Given the description of an element on the screen output the (x, y) to click on. 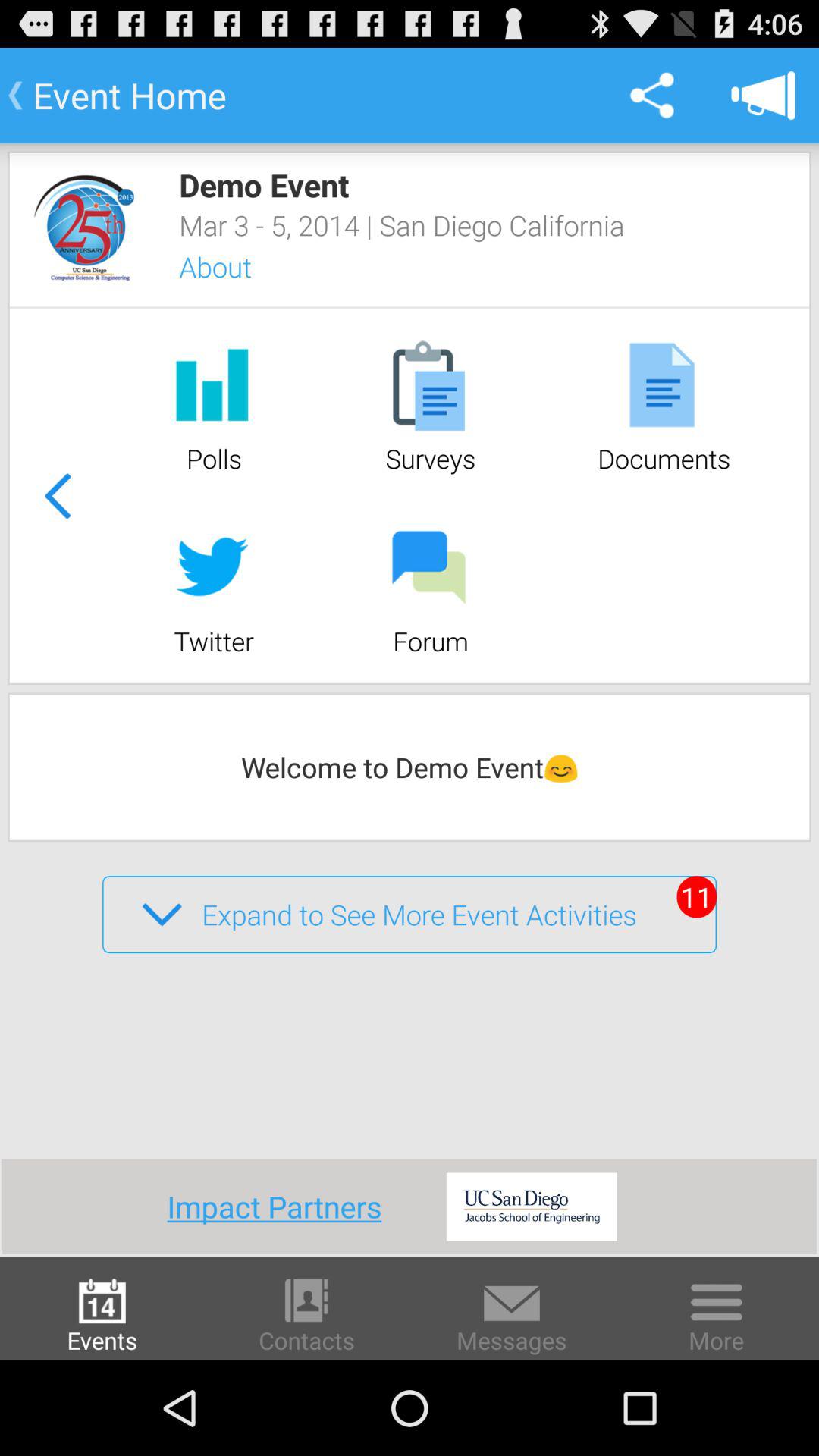
click about icon (235, 267)
